Given the description of an element on the screen output the (x, y) to click on. 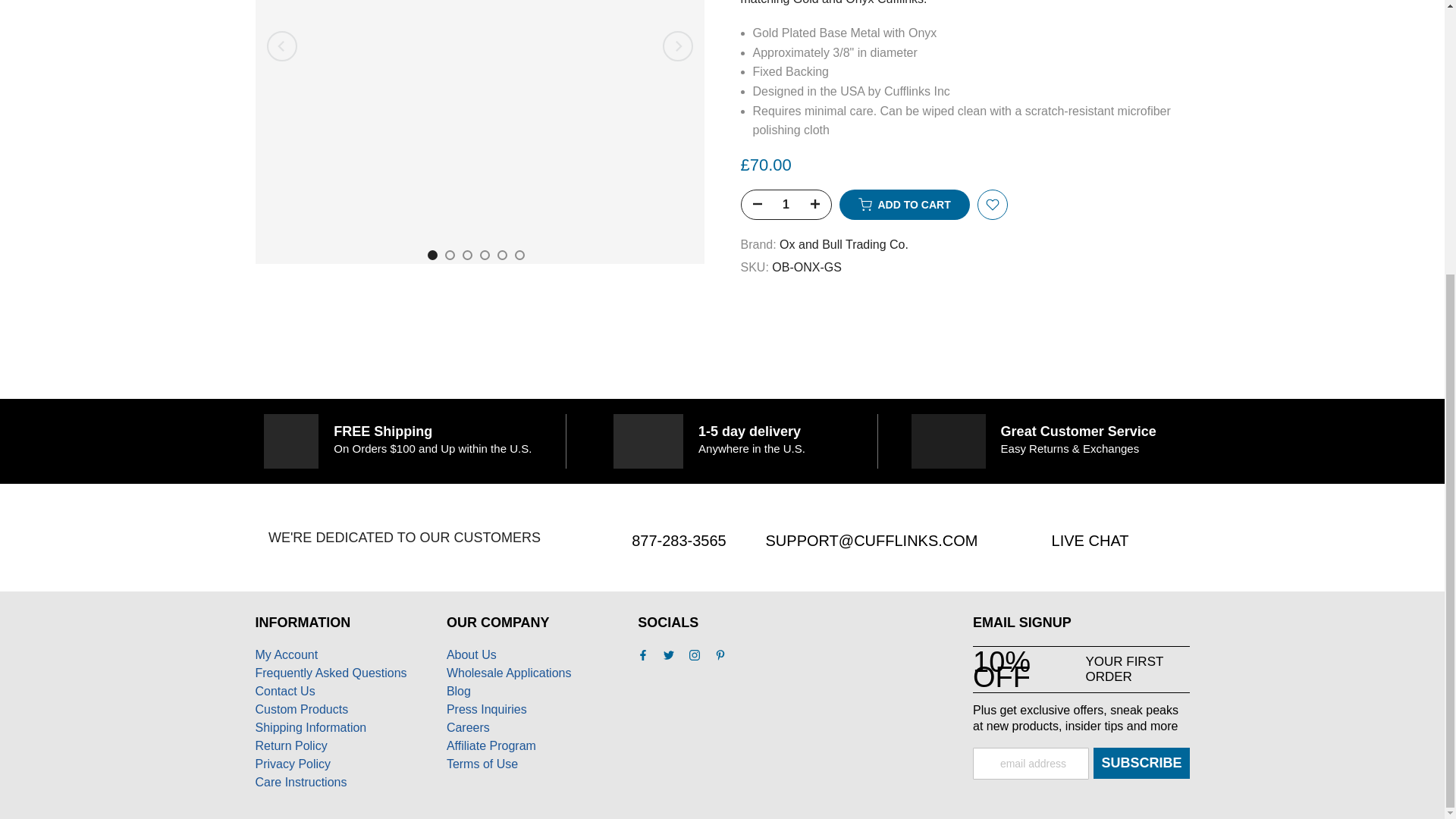
Ox and Bull Trading Co. (843, 212)
Custom Products (300, 708)
ADD TO CART (903, 173)
About Us (471, 654)
Careers (467, 727)
Shipping Information (310, 727)
Contact Us (284, 690)
Press Inquiries (486, 708)
My Account (285, 654)
Return Policy (290, 745)
